Given the description of an element on the screen output the (x, y) to click on. 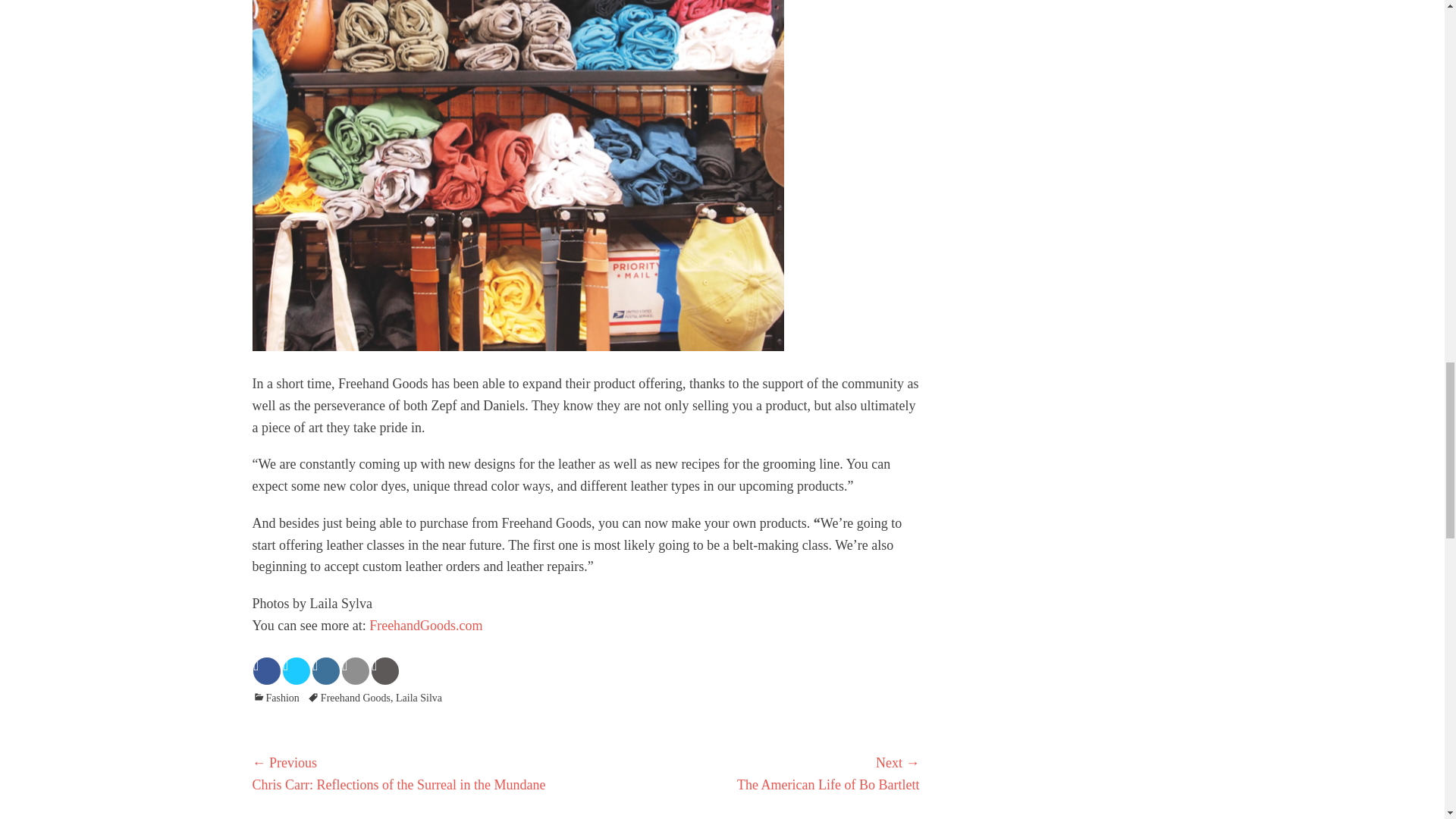
Share on LinkedIn (326, 670)
Print (384, 670)
Share it on Email (355, 670)
Share on Twitter (296, 670)
Page 47 (584, 614)
Share on Facebook (267, 670)
